Given the description of an element on the screen output the (x, y) to click on. 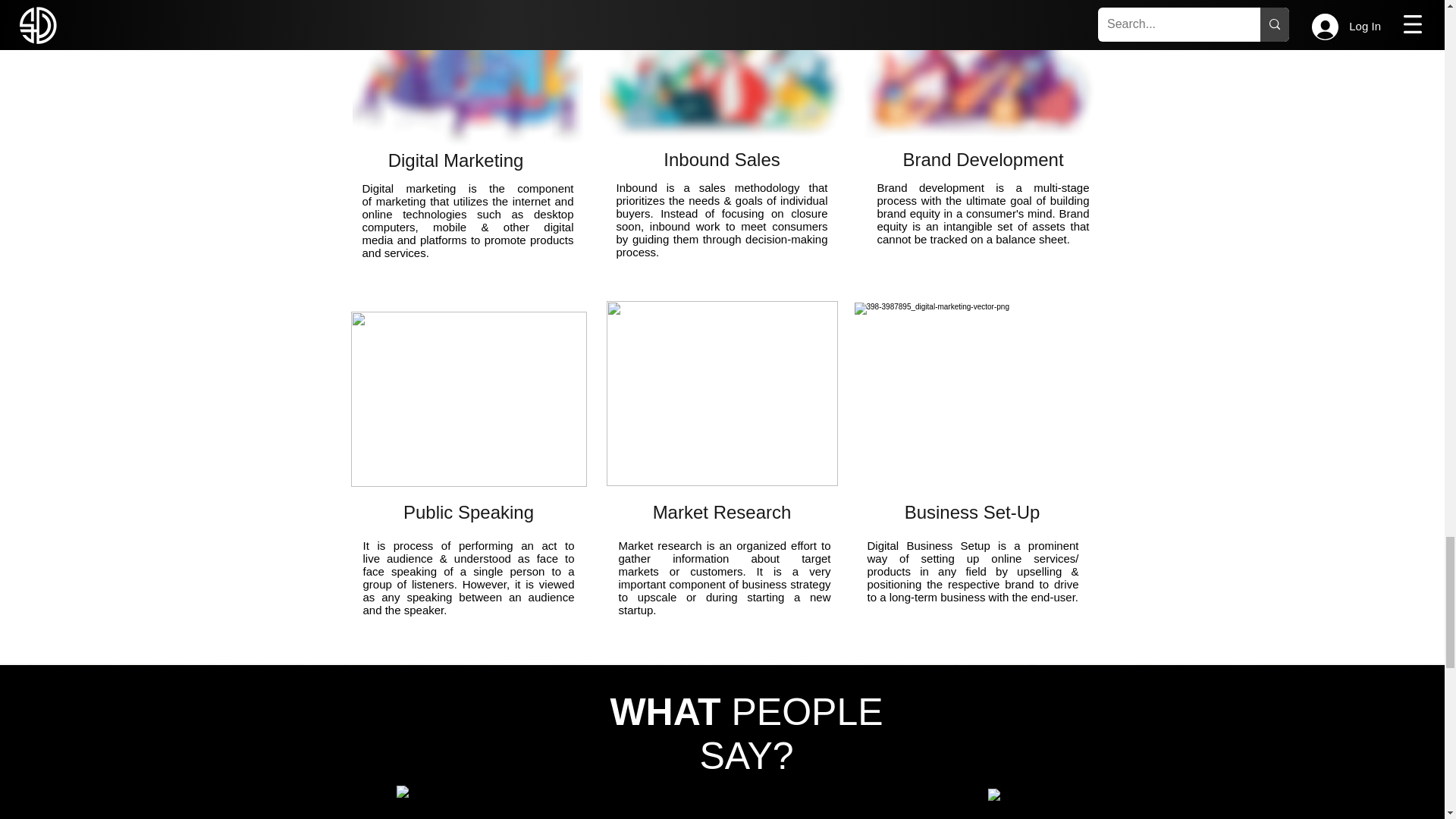
target markets (724, 565)
Marketing-and-Sales-Illustration-1-remov (976, 80)
mobile (456, 226)
marketing (400, 201)
4e7d51c4-cdcc-42e7-95cd-a08f8ed1c62c-rem (468, 399)
desktop computers (467, 220)
digital media (467, 233)
internet (531, 201)
